Given the description of an element on the screen output the (x, y) to click on. 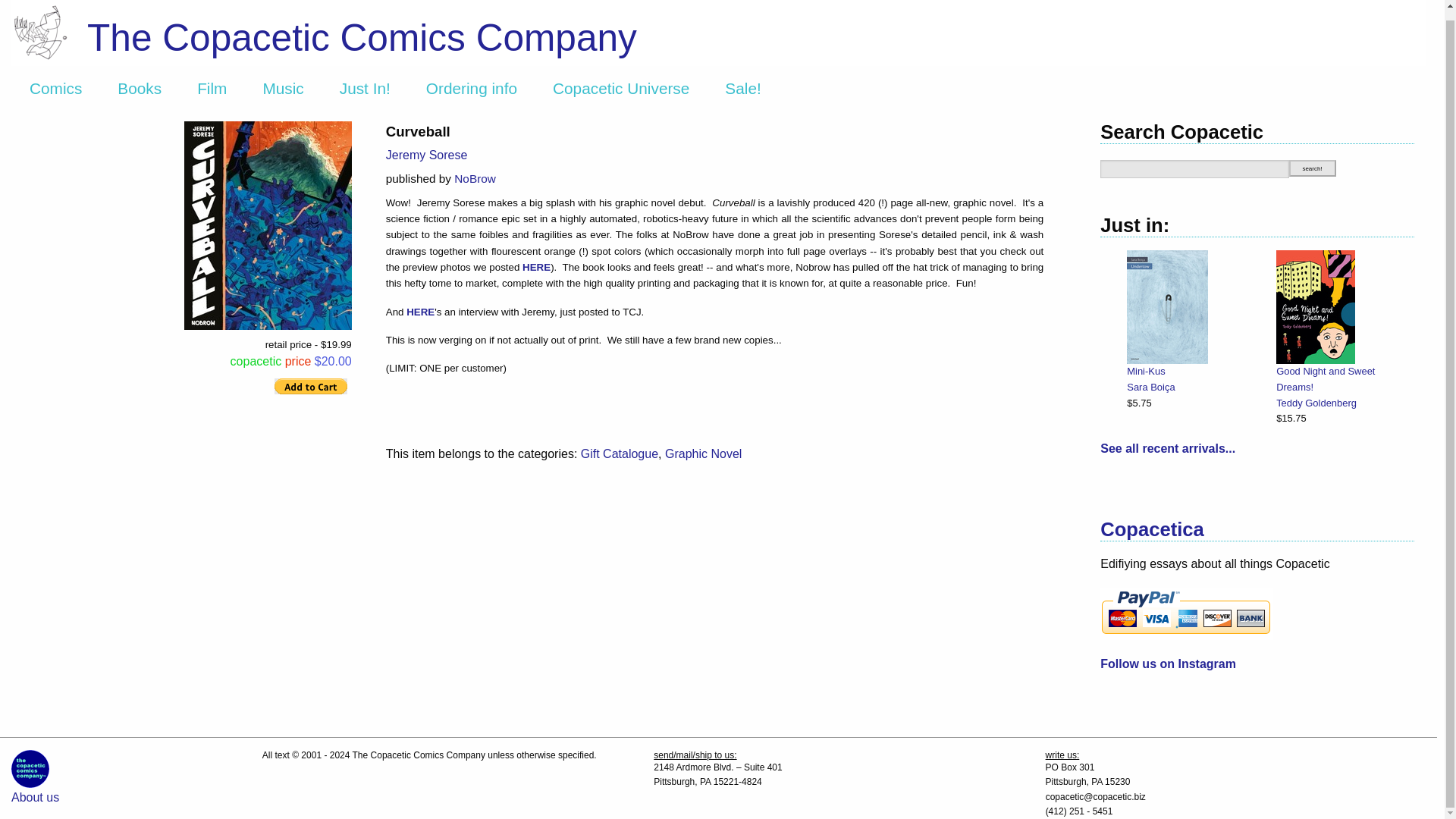
Teddy Goldenberg (1316, 402)
Mini-Kus (1189, 371)
Music (282, 88)
HERE (419, 311)
Good Night and Sweet Dreams! (1339, 378)
Jeremy Sorese (426, 154)
search! (1312, 167)
Film (211, 88)
Teddy Goldenberg (1339, 403)
HERE (536, 266)
